Given the description of an element on the screen output the (x, y) to click on. 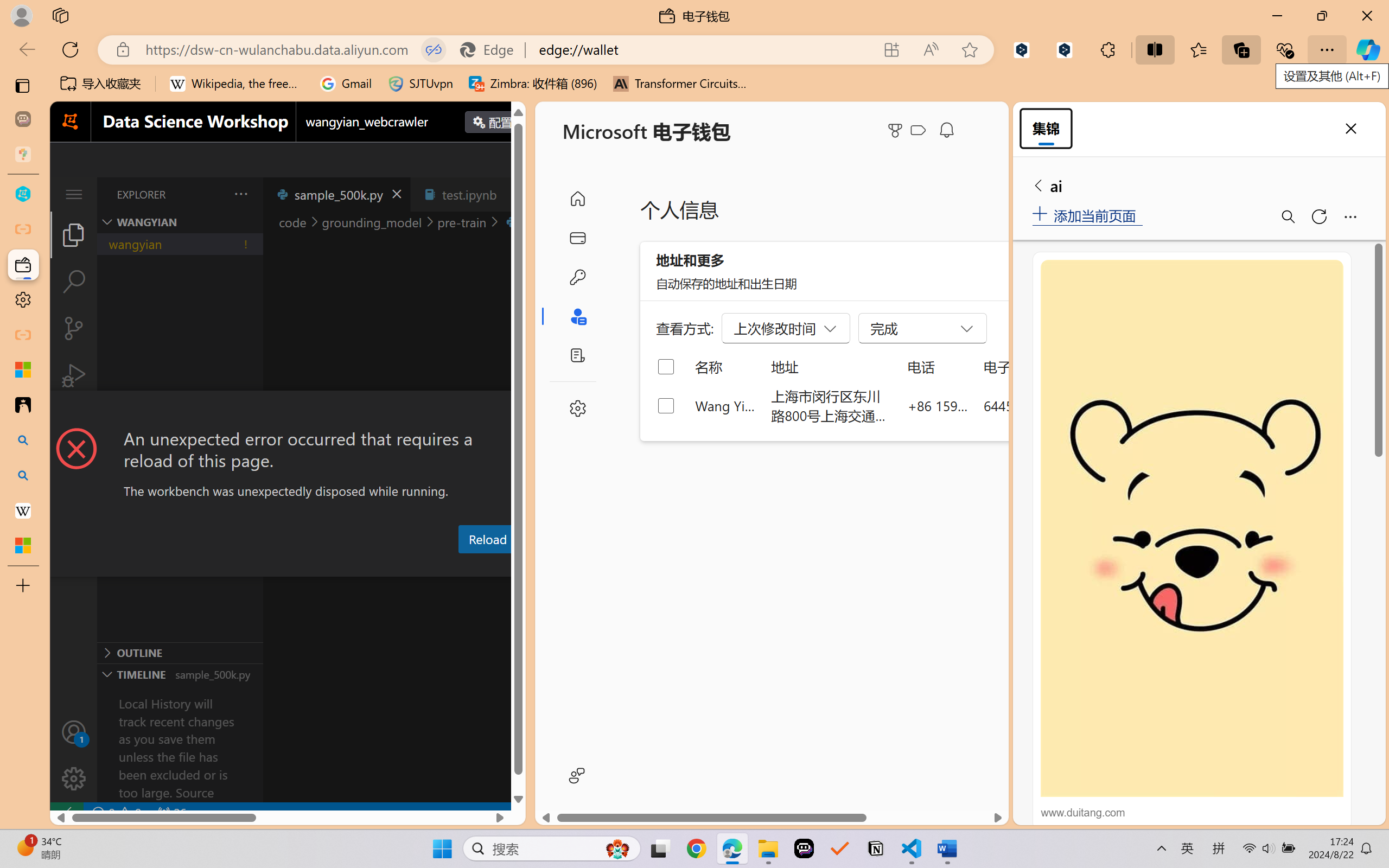
Earth - Wikipedia (22, 510)
Problems (Ctrl+Shift+M) (308, 565)
Class: ___1lmltc5 f1agt3bx f12qytpq (917, 130)
remote (66, 812)
Accounts - Sign in requested (73, 732)
Application Menu (73, 194)
